Given the description of an element on the screen output the (x, y) to click on. 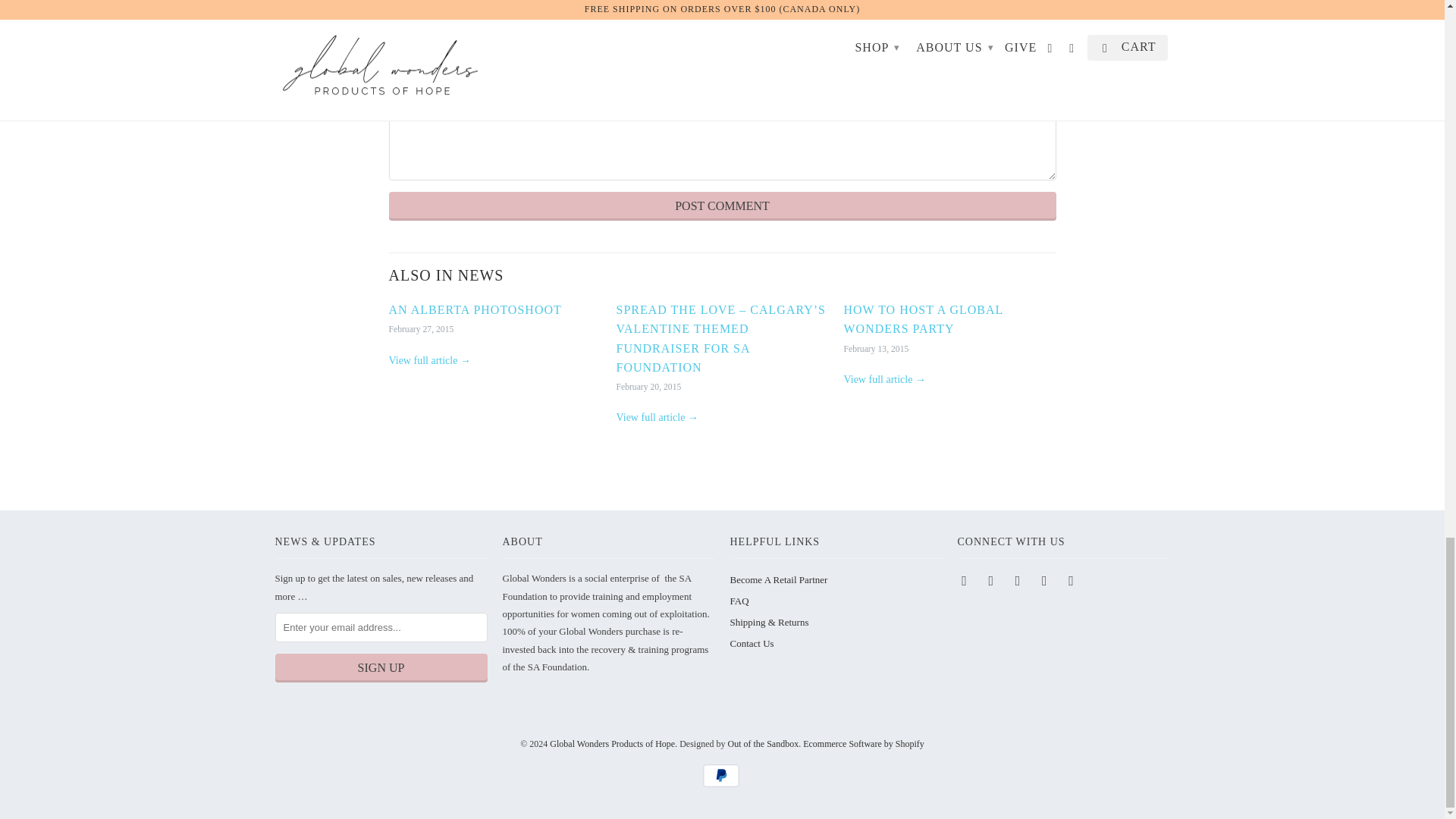
An Alberta Photoshoot (474, 309)
Post comment (721, 205)
An Alberta Photoshoot (429, 360)
Sign Up (380, 667)
